Given the description of an element on the screen output the (x, y) to click on. 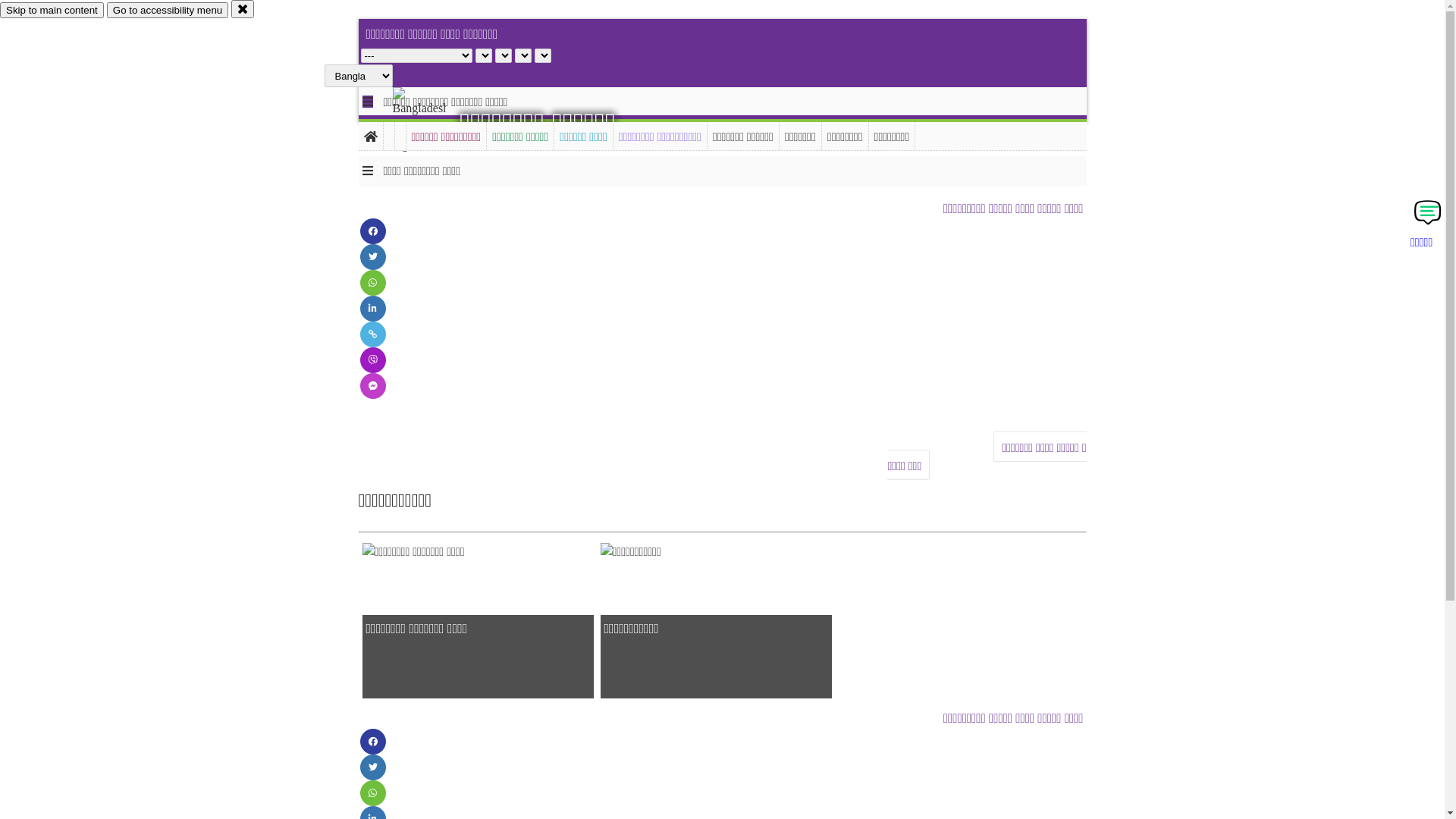
Go to accessibility menu Element type: text (167, 10)

                
             Element type: hover (431, 120)
close Element type: hover (242, 9)
Skip to main content Element type: text (51, 10)
